Given the description of an element on the screen output the (x, y) to click on. 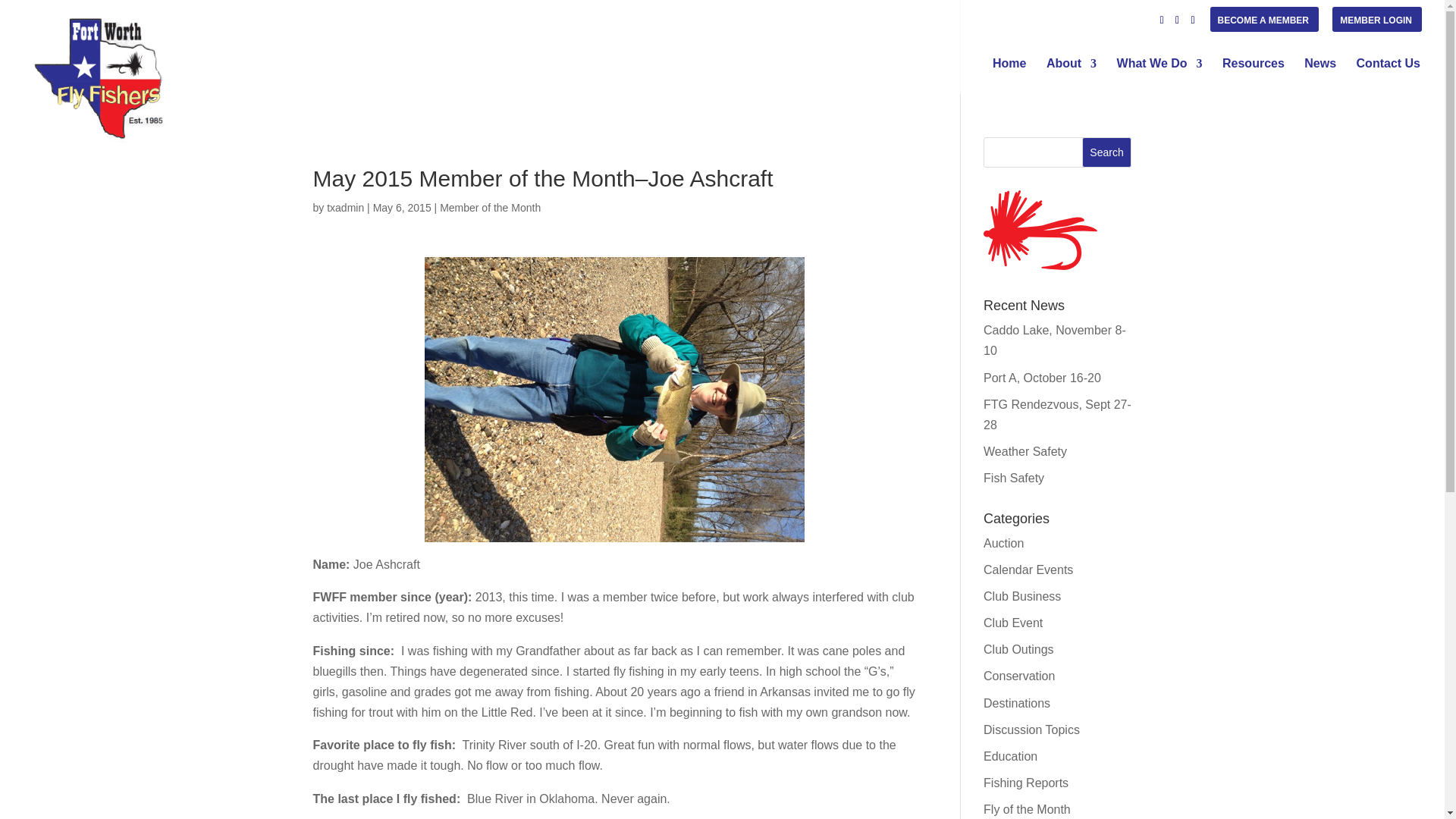
MEMBER LOGIN (1375, 23)
Resources (1253, 75)
About (1071, 75)
News (1320, 75)
Posts by txadmin (345, 207)
BECOME A MEMBER (1262, 23)
Search (1106, 152)
What We Do (1159, 75)
Contact Us (1388, 75)
Home (1009, 75)
